Given the description of an element on the screen output the (x, y) to click on. 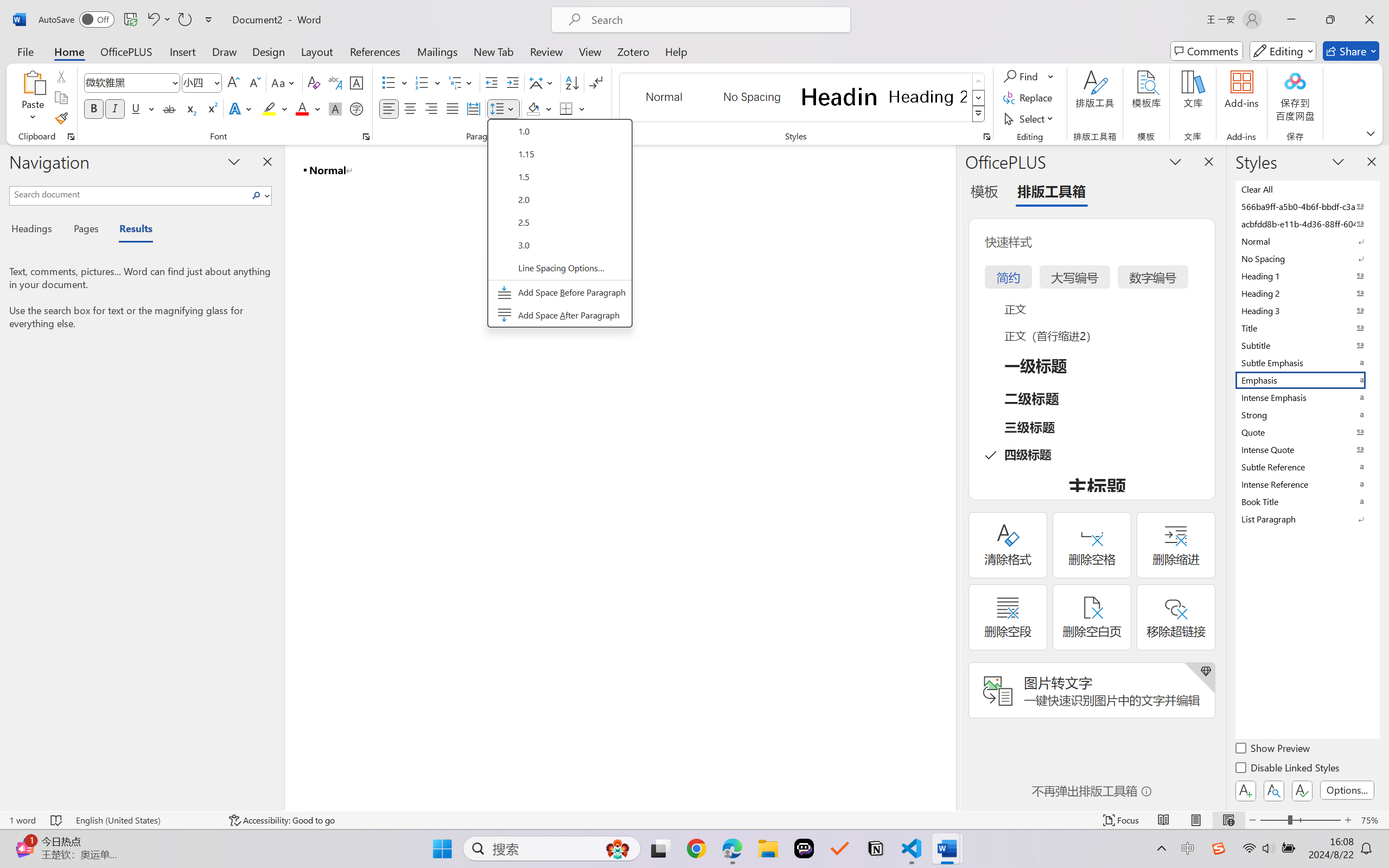
Styles (978, 113)
Row up (978, 81)
Underline (142, 108)
Cut (60, 75)
Ribbon Display Options (1370, 132)
Shading (539, 108)
Numbering (428, 82)
Justify (452, 108)
Zoom In (1348, 819)
Show Preview (1273, 749)
Font Color (308, 108)
